Given the description of an element on the screen output the (x, y) to click on. 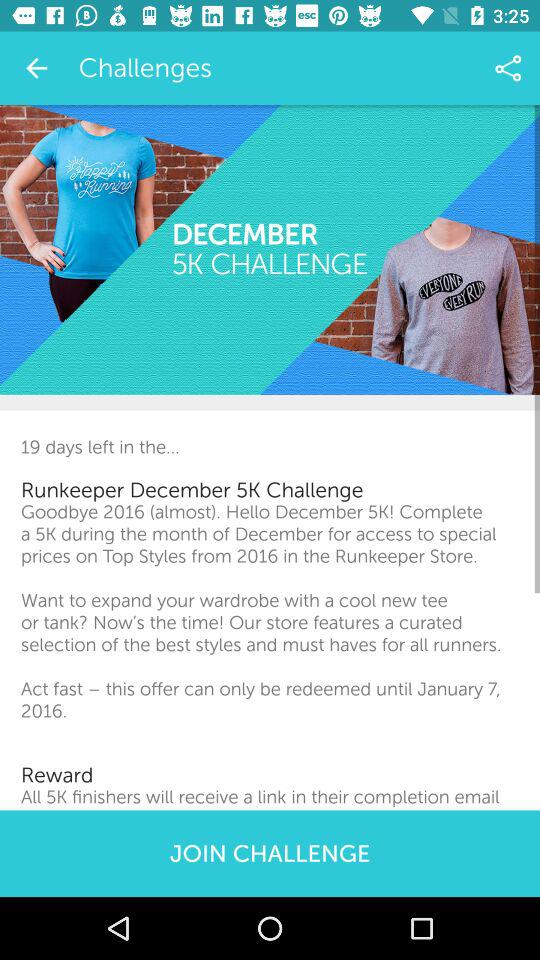
select the icon above the 19 days left item (270, 249)
